Given the description of an element on the screen output the (x, y) to click on. 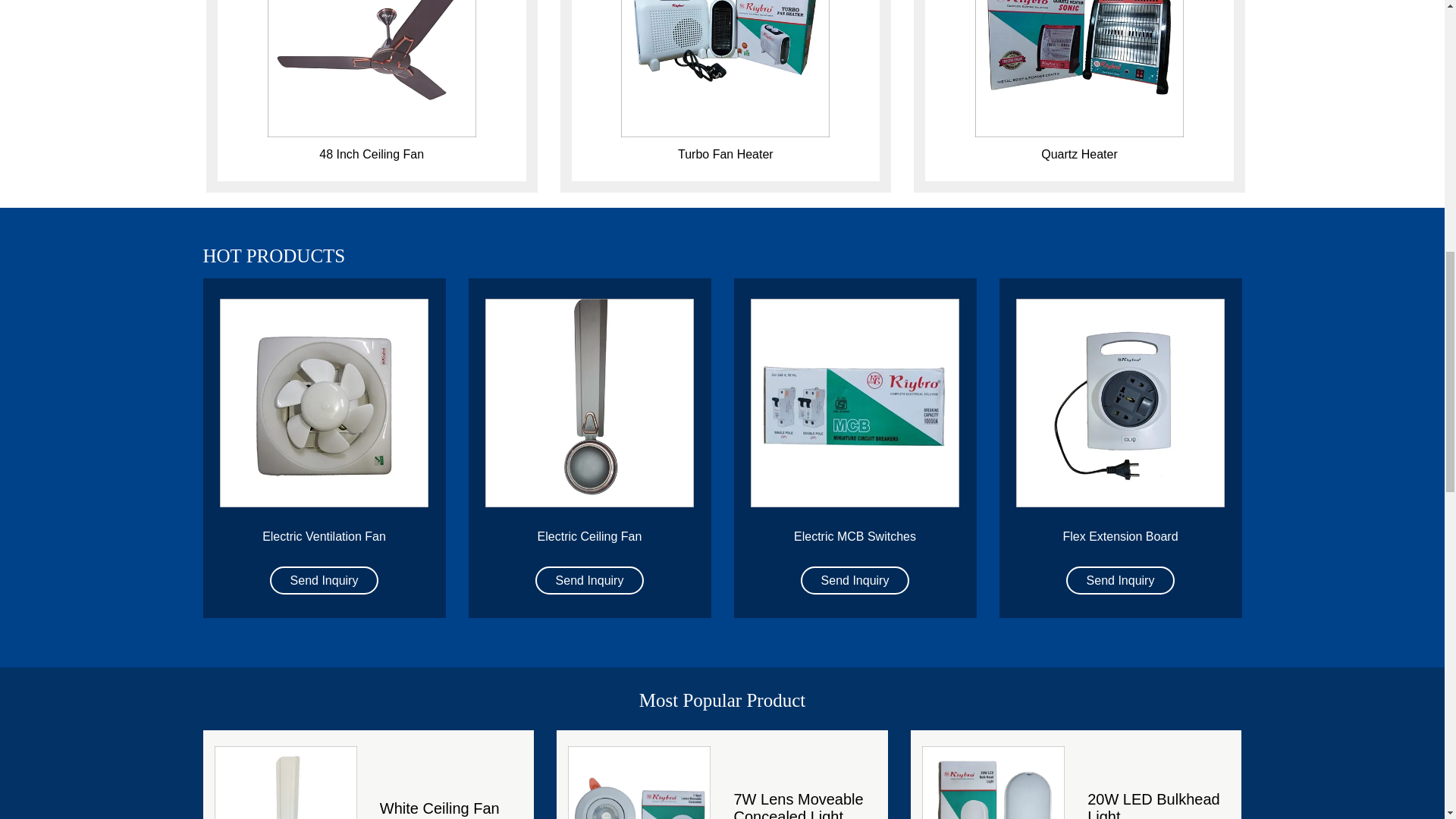
Electric Ventilation Fan (324, 402)
7W Lens Moveable Concealed Light (638, 780)
White Ceiling Fan (285, 780)
Electric Ceiling Fan (589, 535)
Turbo Fan Heater (725, 68)
Electric MCB Switches (854, 535)
Electric MCB Switches (854, 402)
Flex Extension Board (1120, 402)
Electric Ceiling Fan (589, 402)
48 Inch Ceiling Fan (371, 68)
